Given the description of an element on the screen output the (x, y) to click on. 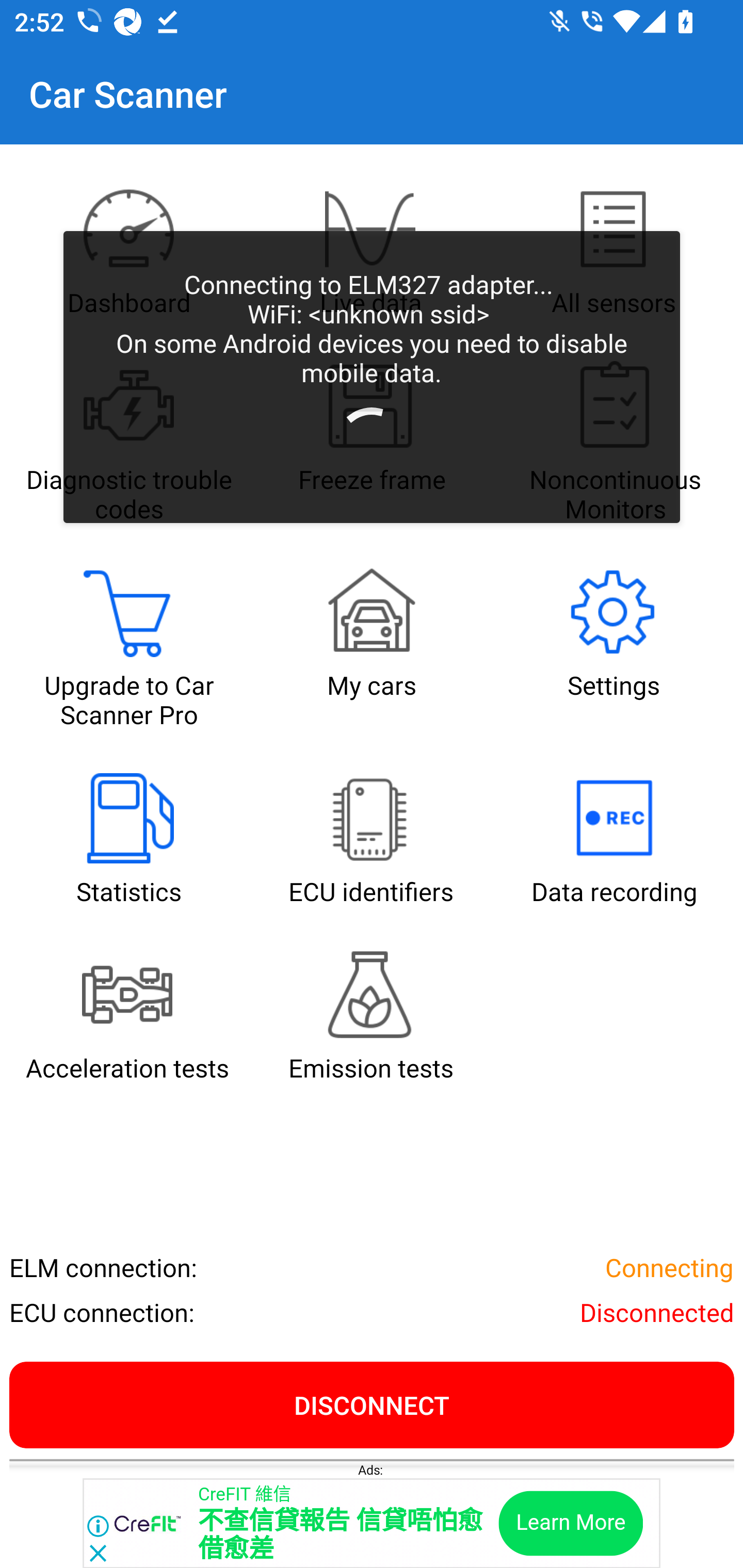
DISCONNECT (371, 1404)
